Given the description of an element on the screen output the (x, y) to click on. 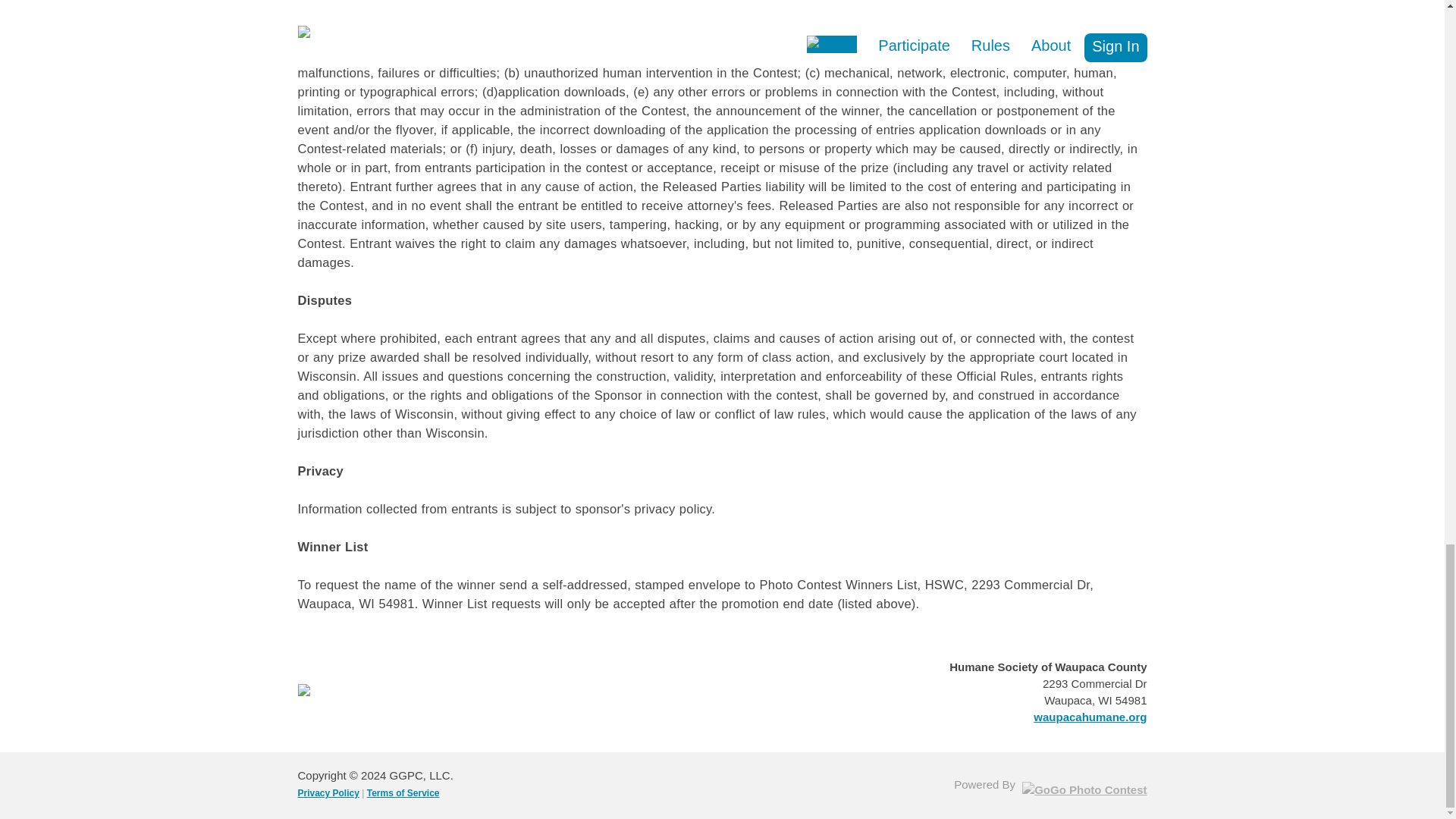
GoGo Photo Contest (1084, 790)
Privacy Policy (327, 792)
Terms of Service (402, 792)
waupacahumane.org (1090, 716)
